Given the description of an element on the screen output the (x, y) to click on. 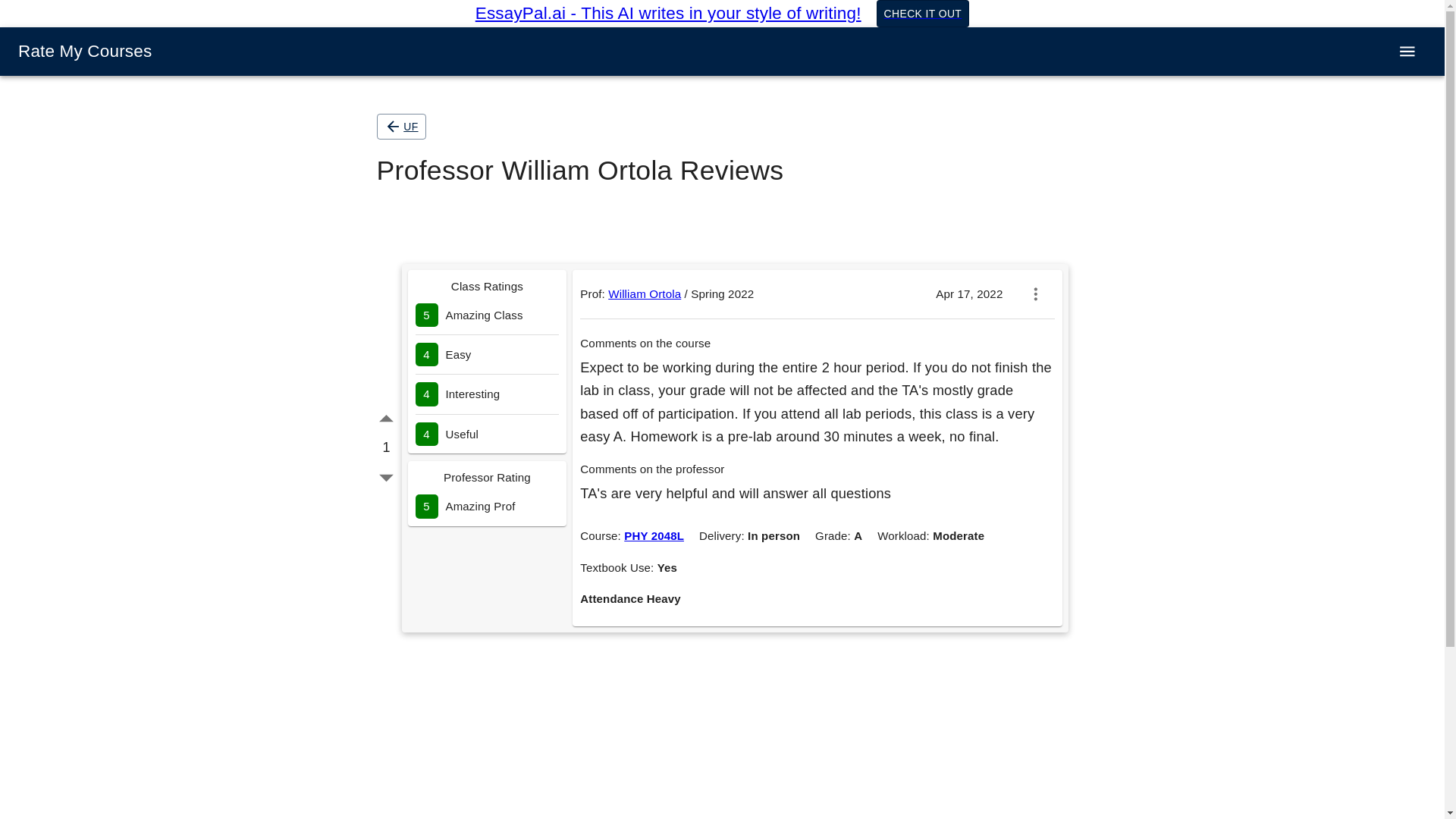
William Ortola (644, 293)
Rate My Courses (84, 50)
PHY 2048L (654, 535)
CHECK IT OUT (922, 13)
UF (400, 126)
UF (400, 126)
